Given the description of an element on the screen output the (x, y) to click on. 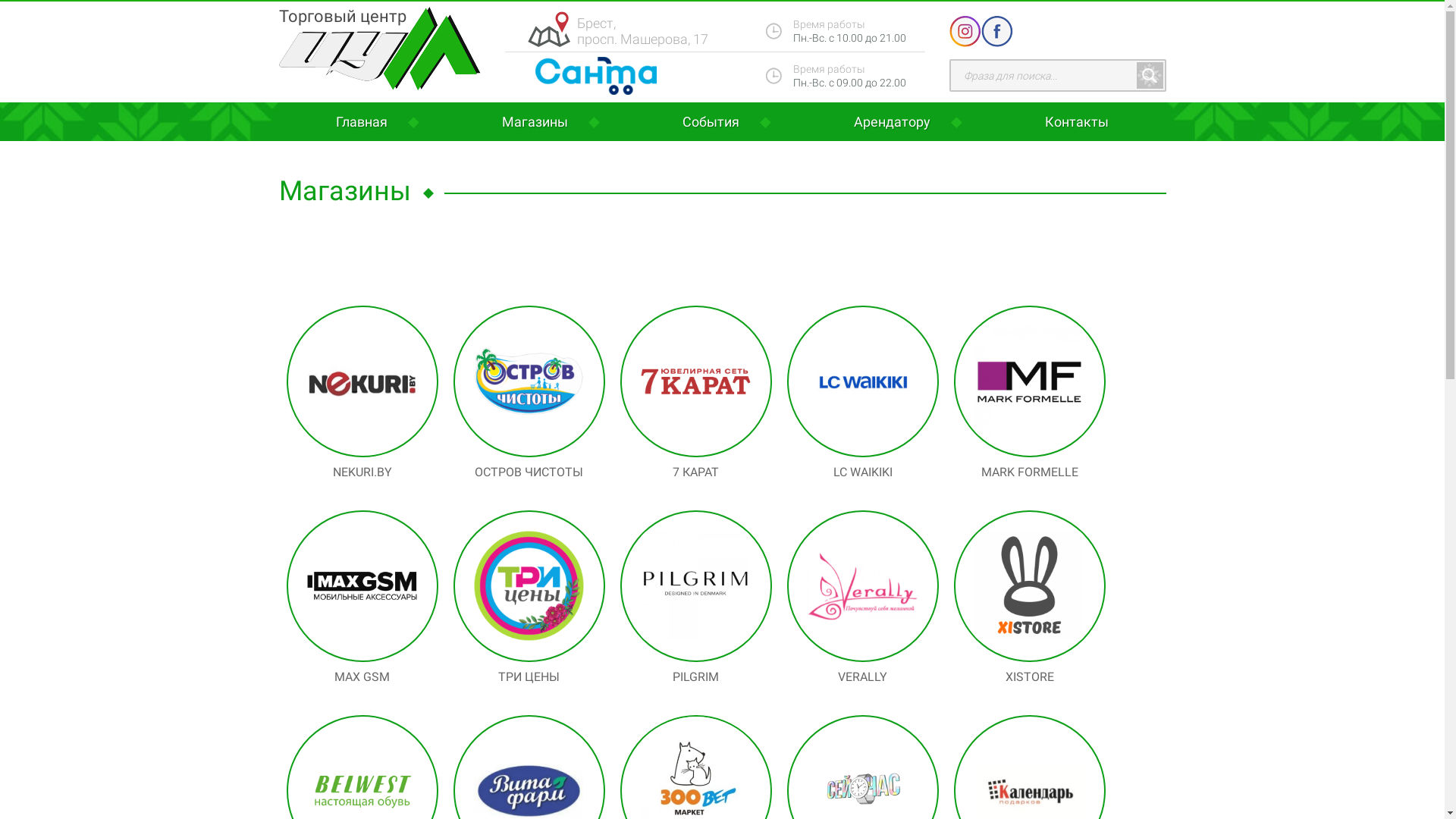
  Element type: text (1148, 75)
